Given the description of an element on the screen output the (x, y) to click on. 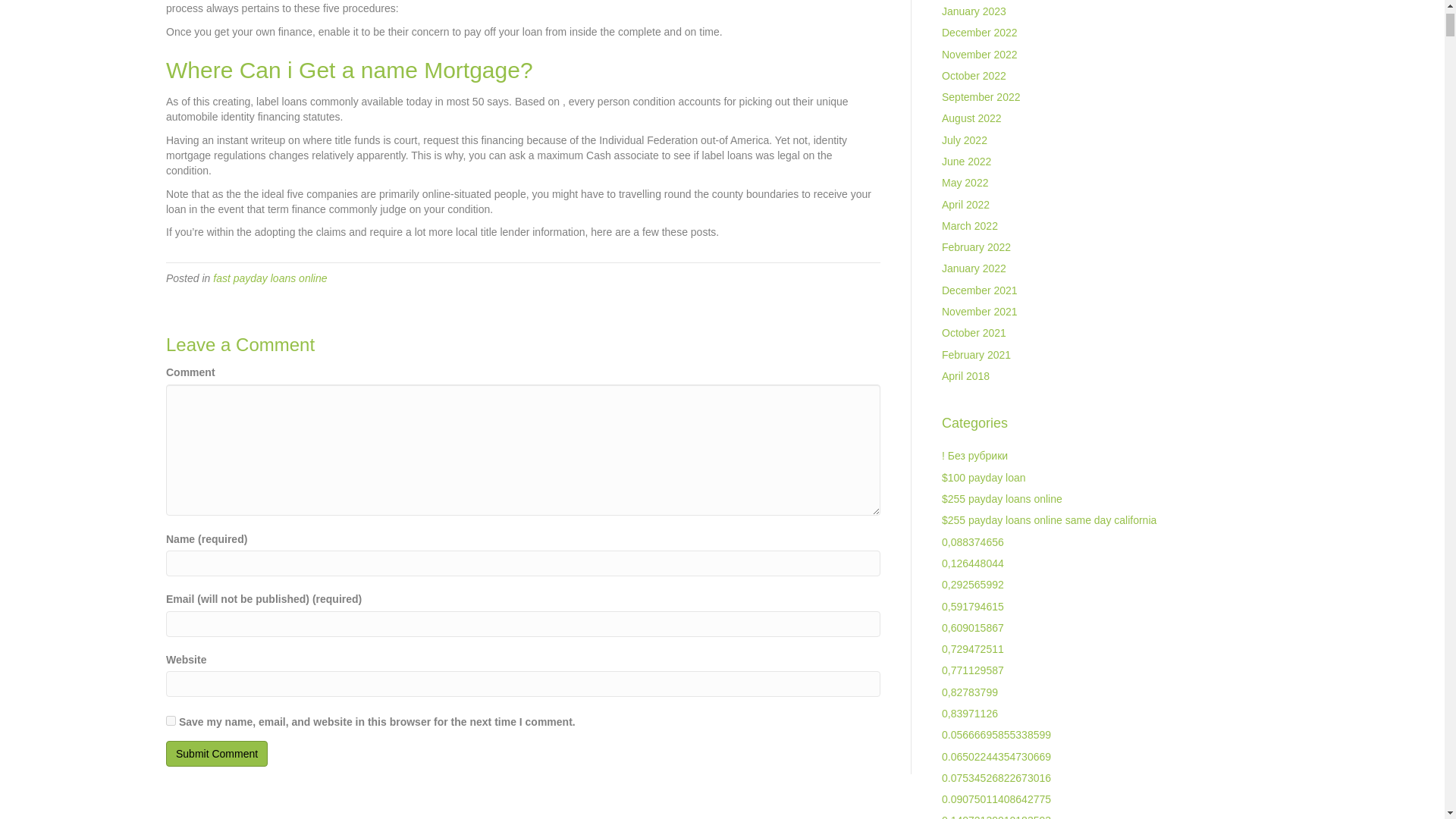
Submit Comment (216, 753)
yes (170, 720)
fast payday loans online (269, 277)
Submit Comment (216, 753)
